Given the description of an element on the screen output the (x, y) to click on. 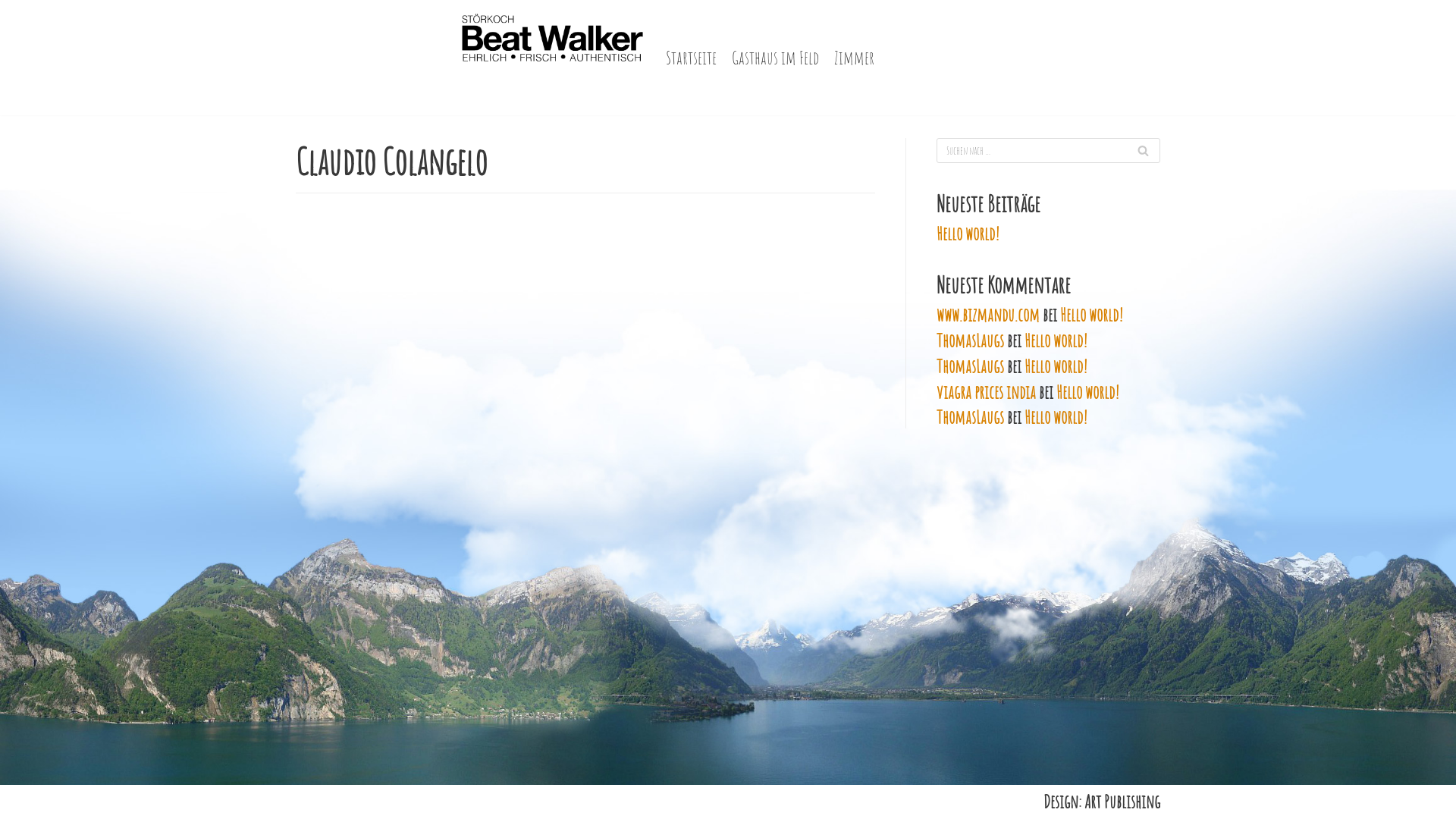
Hello world! Element type: text (1091, 314)
Hello world! Element type: text (967, 233)
Gasthaus im Feld Element type: text (774, 57)
Startseite Element type: text (690, 57)
Zum Inhalt springen Element type: text (15, 7)
www.bizmandu.com Element type: text (987, 314)
ThomasLaugs Element type: text (970, 340)
Hello world! Element type: text (1055, 416)
Art Publishing Element type: text (1122, 801)
ThomasLaugs Element type: text (970, 365)
Hello world! Element type: text (1055, 340)
Hello world! Element type: text (1055, 365)
viagra prices india Element type: text (985, 391)
Hello world! Element type: text (1087, 391)
ThomasLaugs Element type: text (970, 416)
Zimmer Element type: text (854, 57)
Beat Walker Element type: hover (551, 57)
